Given the description of an element on the screen output the (x, y) to click on. 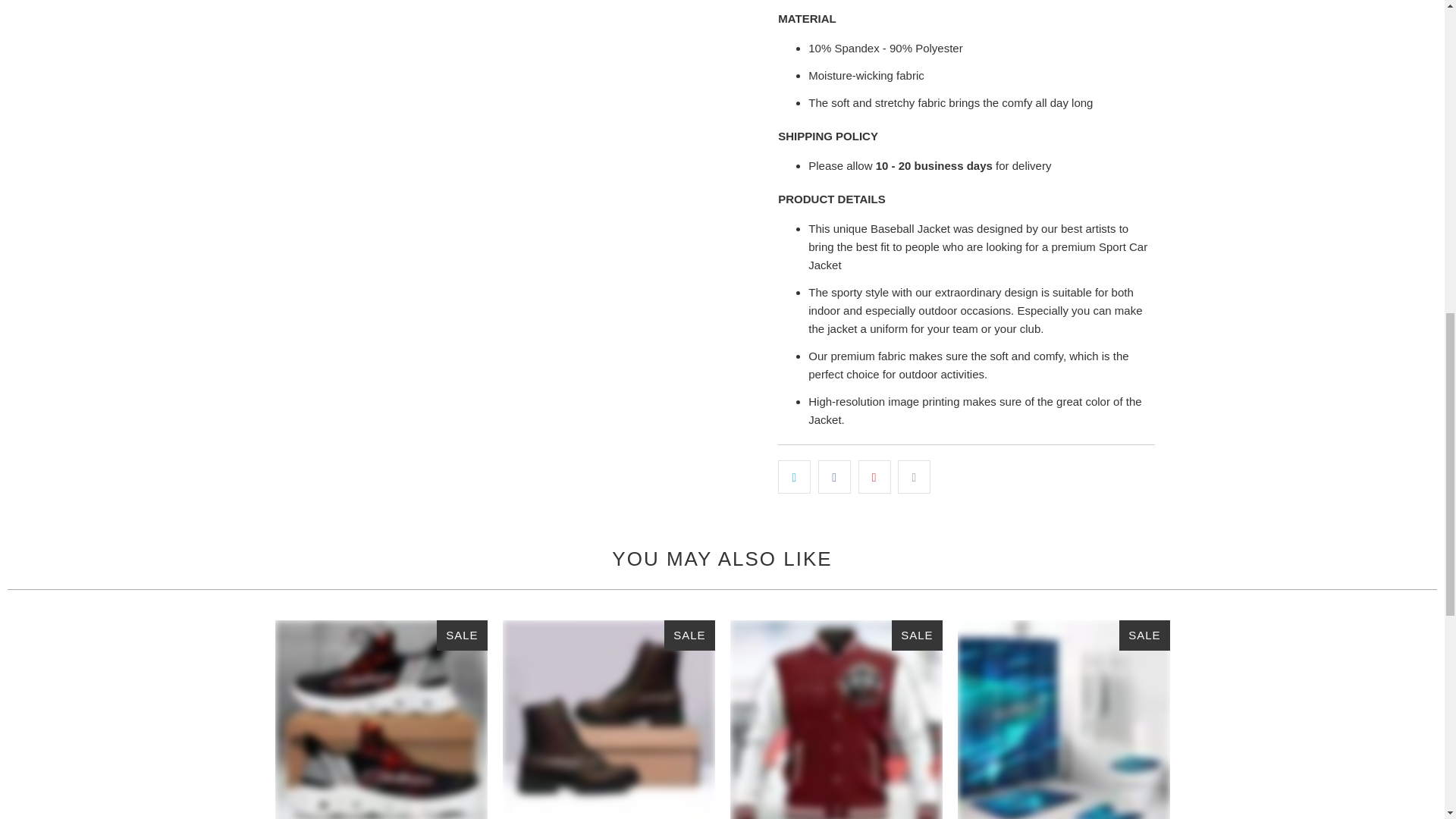
Share this on Pinterest (875, 476)
Share this on Twitter (793, 476)
Share this on Facebook (834, 476)
Email this to a friend (914, 476)
